Given the description of an element on the screen output the (x, y) to click on. 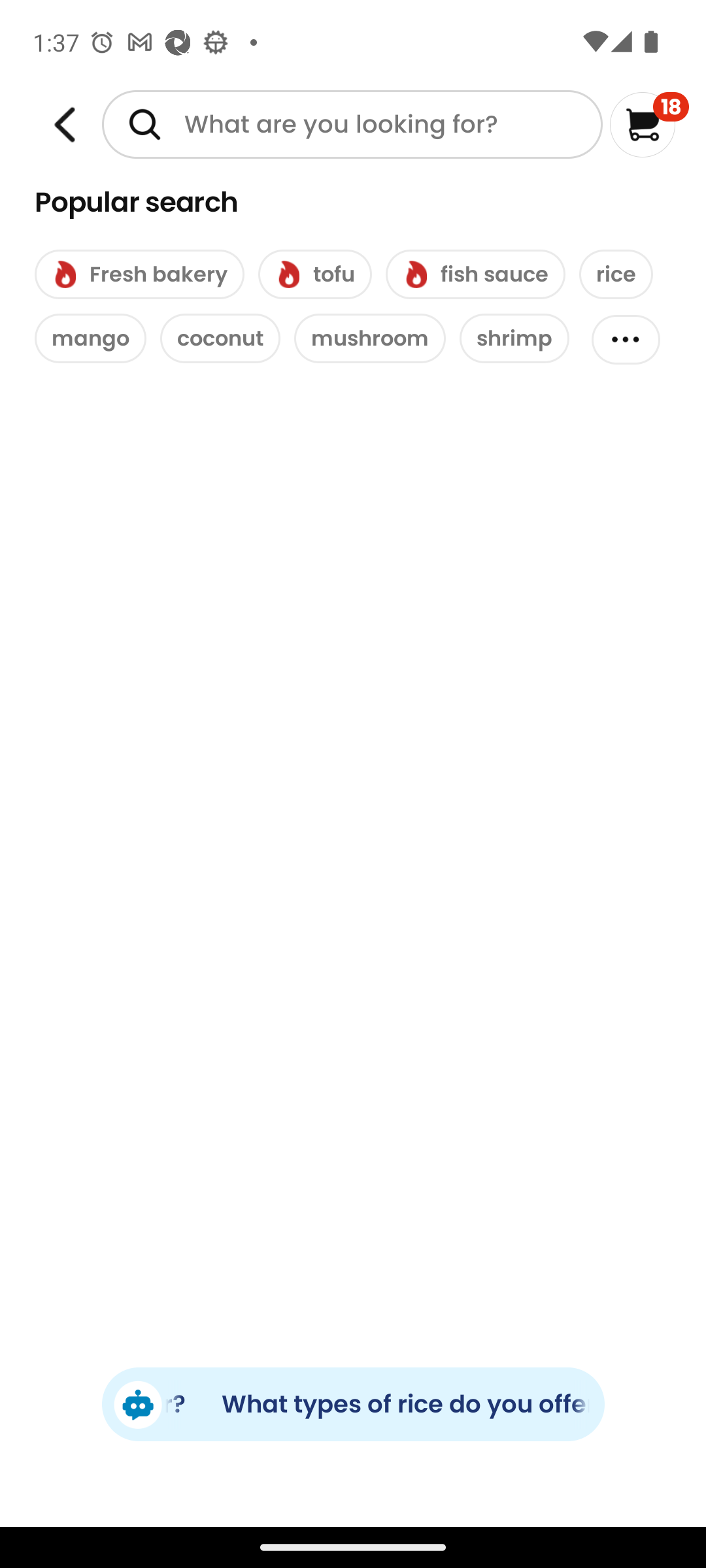
What are you looking for? (351, 124)
18 (649, 124)
Fresh bakery (139, 274)
tofu (315, 274)
fish sauce (475, 274)
rice (615, 274)
mango (90, 338)
coconut (220, 338)
mushroom (369, 338)
shrimp (514, 338)
